Given the description of an element on the screen output the (x, y) to click on. 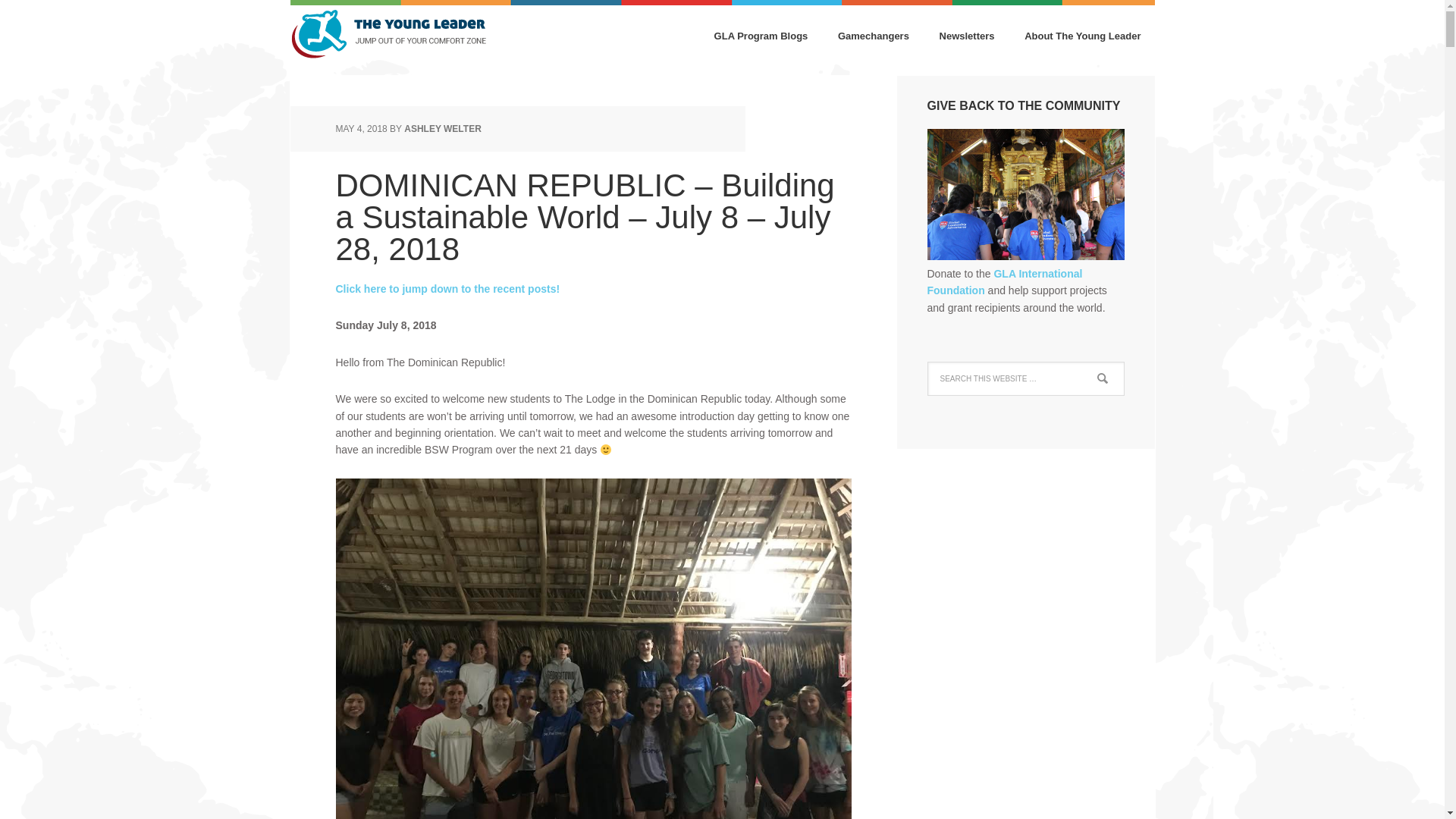
Newsletters (967, 37)
GLA International Foundation (1003, 281)
Click here to jump down to the recent posts! (446, 288)
The Young Leader (387, 38)
Gamechangers (873, 37)
ASHLEY WELTER (442, 128)
GLA Program Blogs (761, 37)
About The Young Leader (1082, 37)
